Given the description of an element on the screen output the (x, y) to click on. 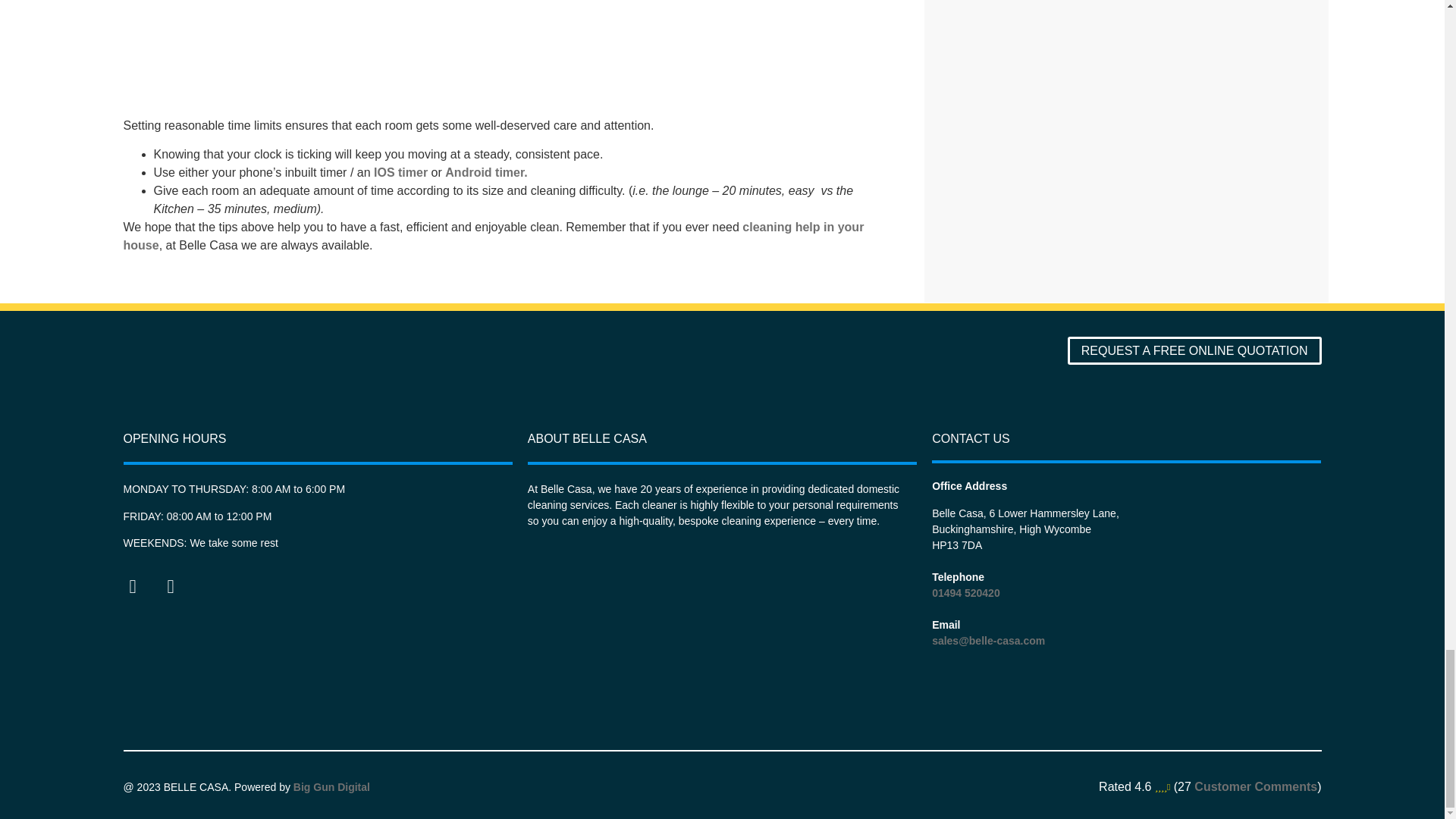
cleaning help in your house (492, 235)
IOS timer (401, 172)
Google Reviews (1255, 786)
Android timer. (486, 172)
